Given the description of an element on the screen output the (x, y) to click on. 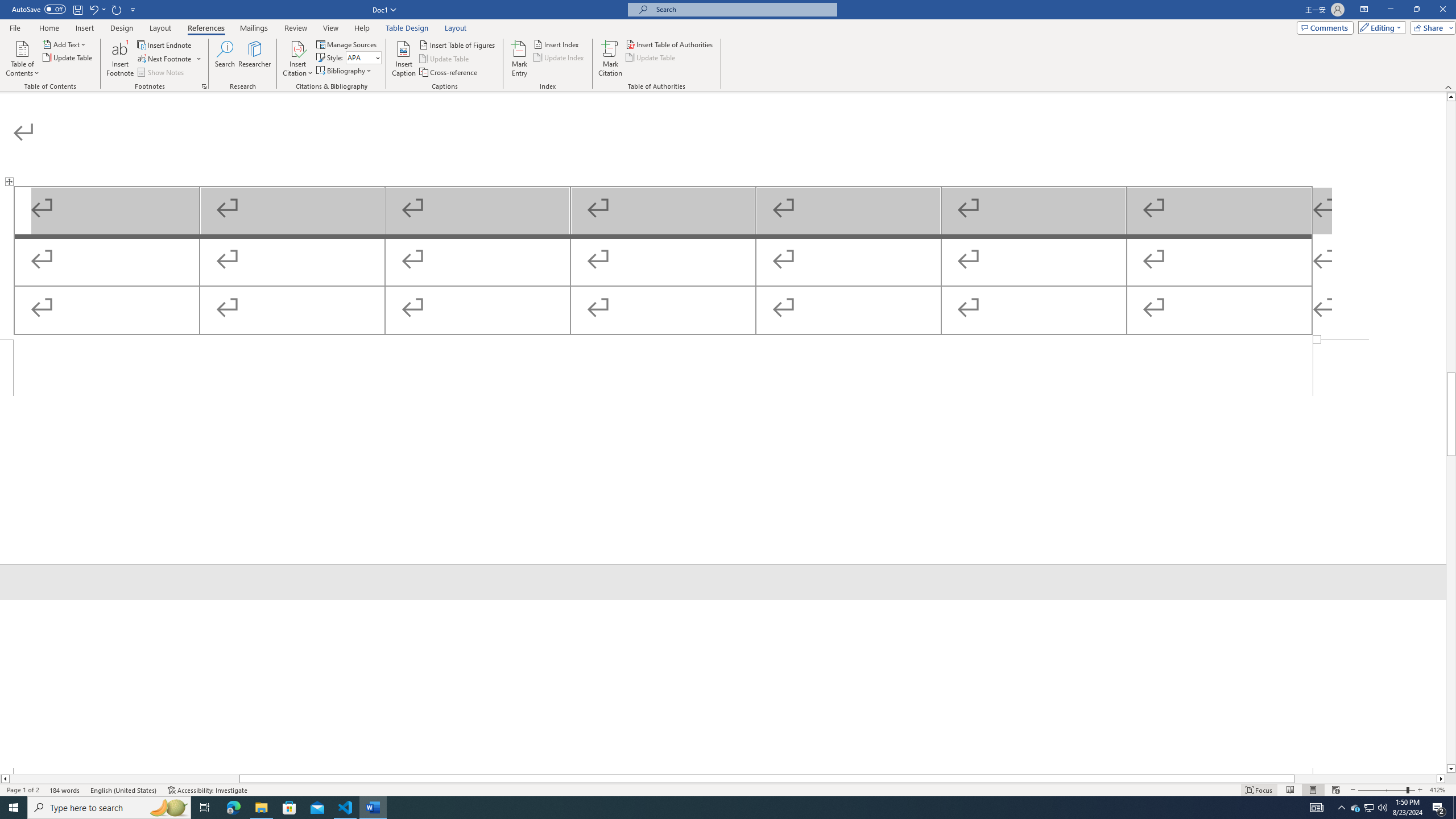
Page left (124, 778)
Header -Section 1- (722, 685)
Style (363, 56)
Microsoft search (742, 9)
Update Table (651, 56)
Editing (1379, 27)
Footnote and Endnote Dialog... (203, 85)
Update Index (559, 56)
